Given the description of an element on the screen output the (x, y) to click on. 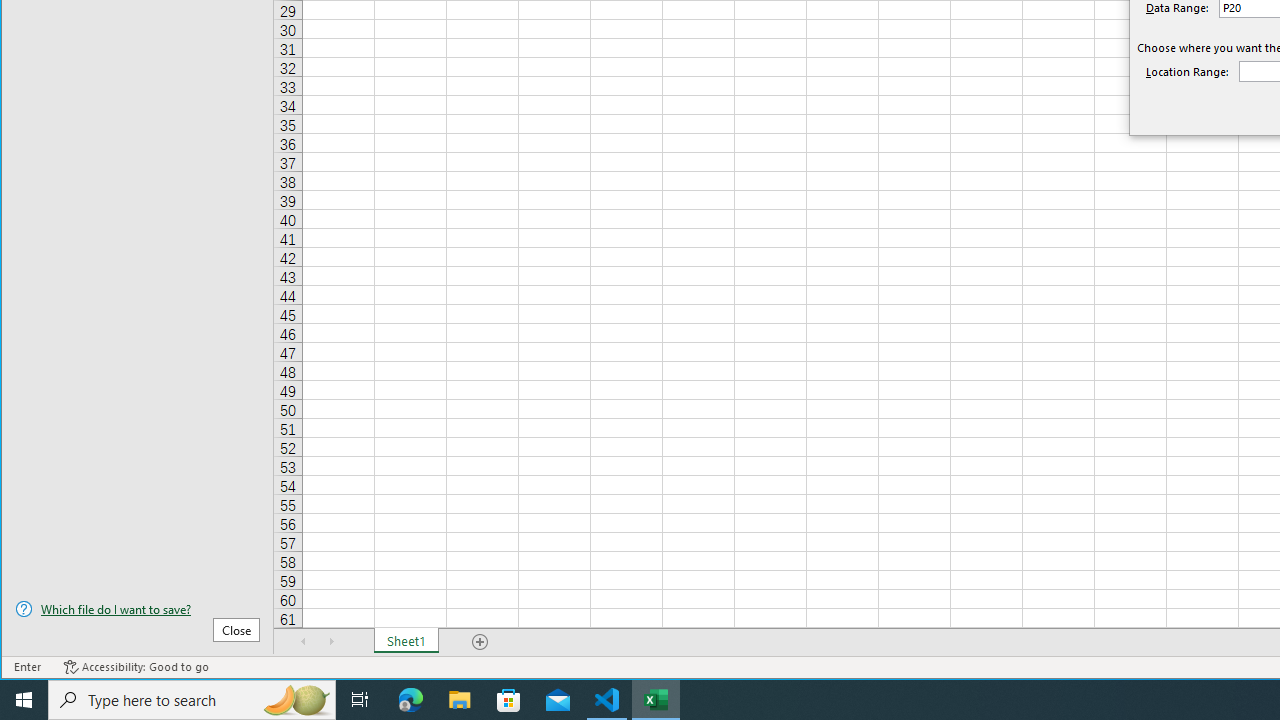
Which file do I want to save? (137, 609)
